Given the description of an element on the screen output the (x, y) to click on. 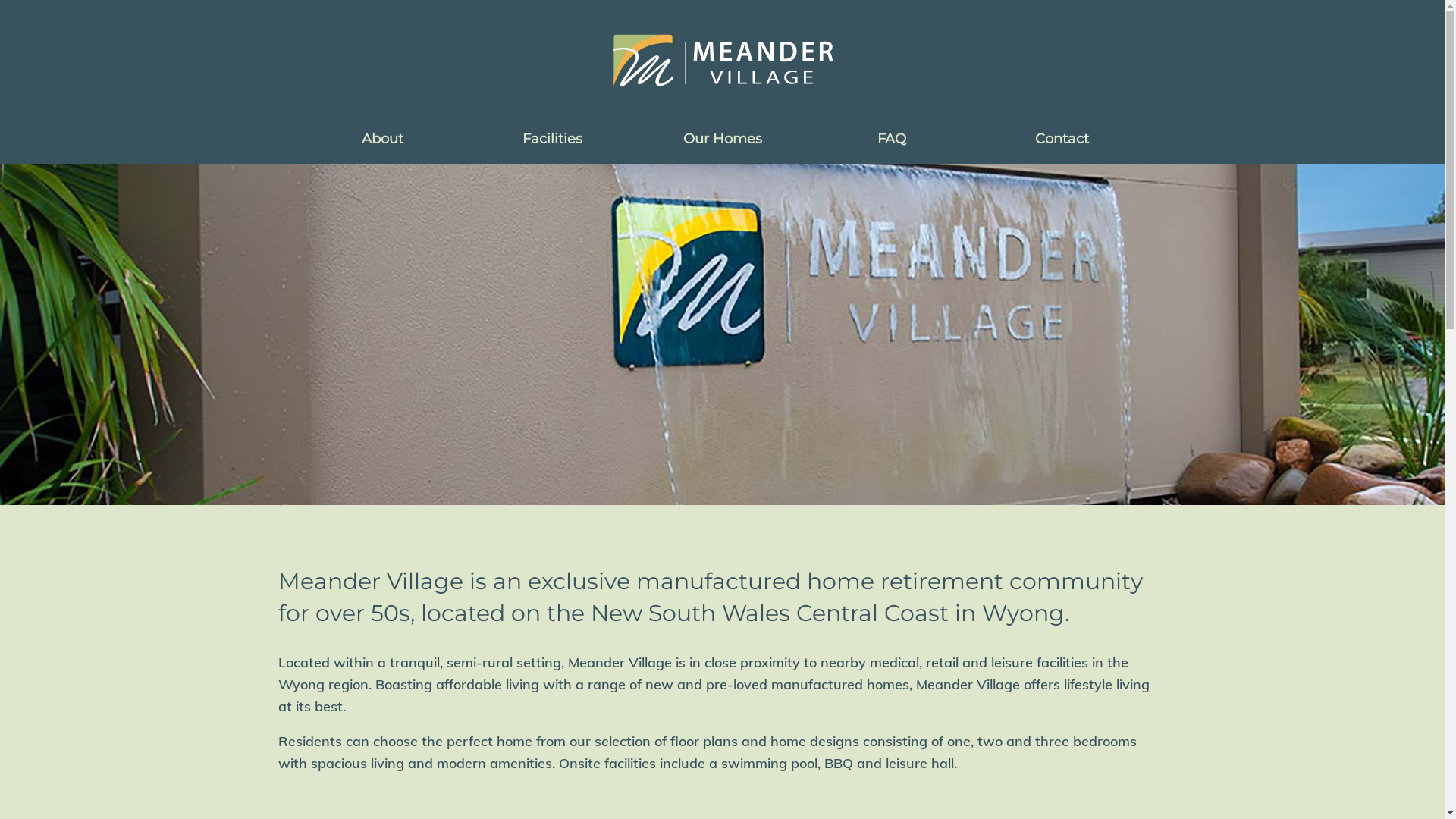
Our Homes Element type: text (722, 138)
Contact Element type: text (1062, 138)
Facilities Element type: text (552, 138)
FAQ Element type: text (892, 138)
About Element type: text (382, 138)
